Given the description of an element on the screen output the (x, y) to click on. 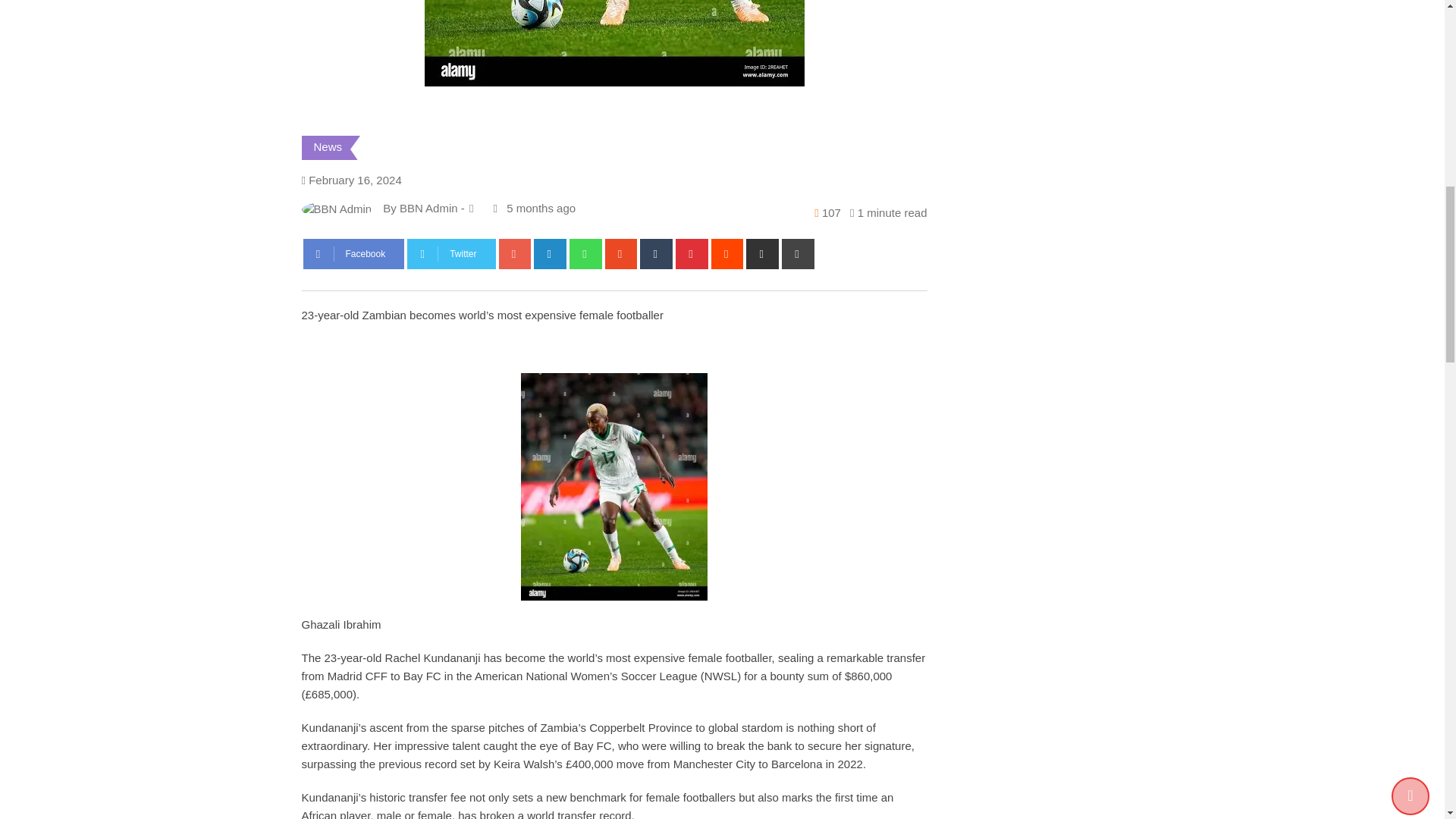
BBN Admin (428, 207)
News (328, 146)
